Given the description of an element on the screen output the (x, y) to click on. 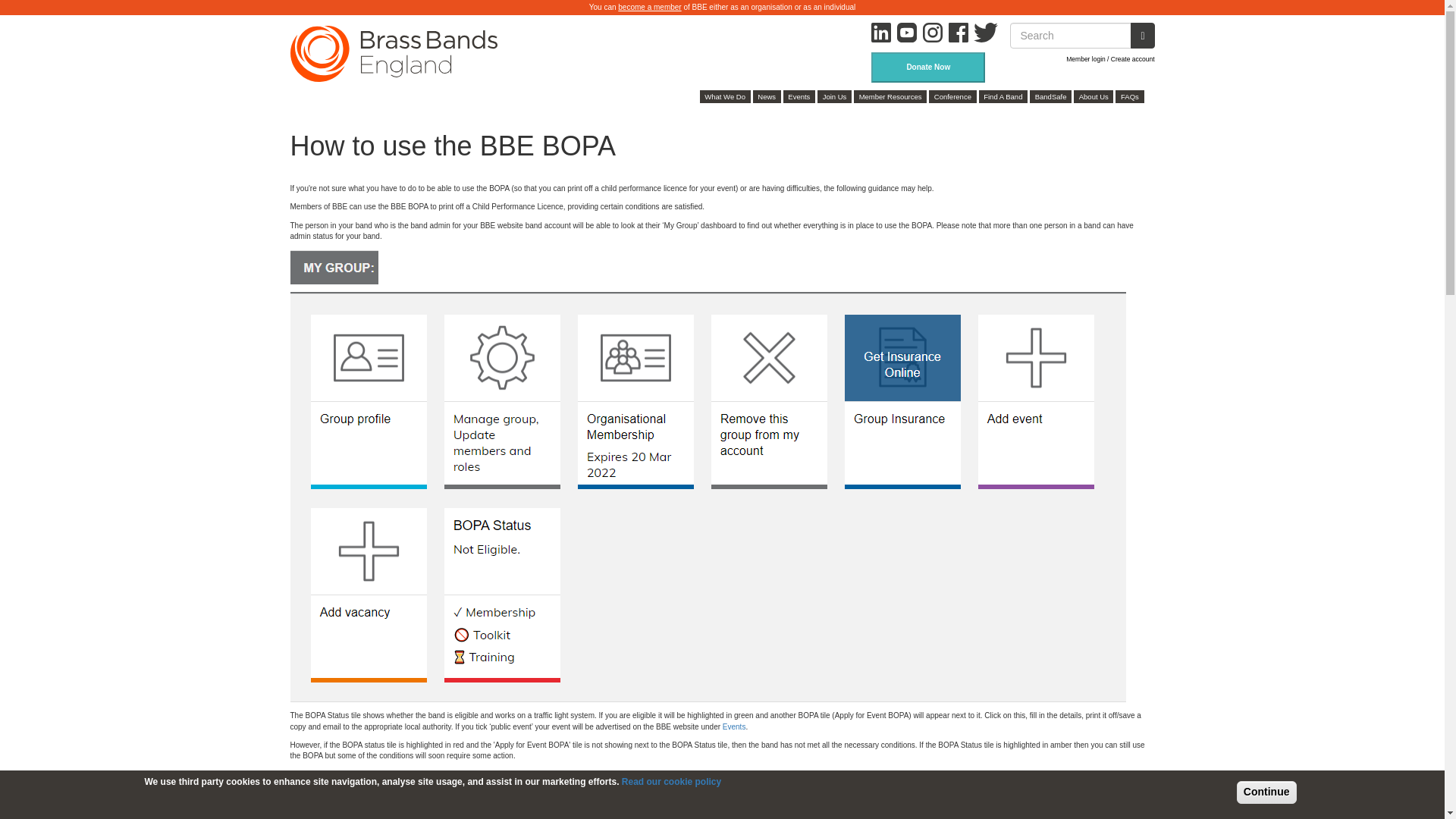
Events (799, 96)
Enter the terms you wish to search for. (1070, 35)
Events (733, 726)
Join Us (833, 96)
Find A Band (1002, 96)
Home (398, 53)
News (766, 96)
Conference (951, 96)
About Us (1093, 96)
FAQs (1128, 96)
BandSafe (1050, 96)
What We Do (725, 96)
become a member (649, 7)
Member Resources (889, 96)
